Given the description of an element on the screen output the (x, y) to click on. 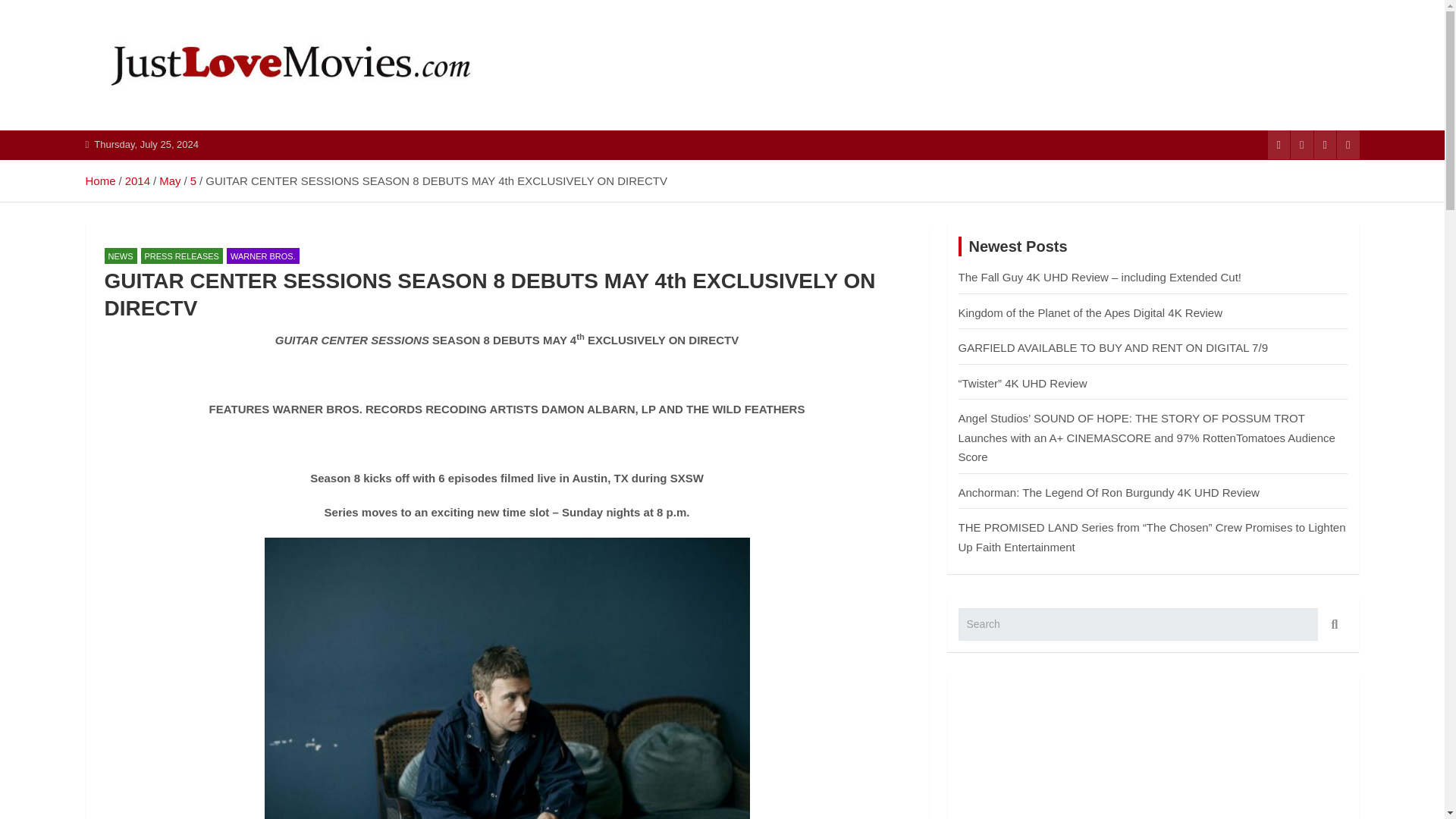
Just Love Movies (210, 127)
PRESS RELEASES (181, 255)
NEWS (120, 255)
WARNER BROS. (263, 255)
2014 (137, 180)
Home (99, 180)
May (169, 180)
